Given the description of an element on the screen output the (x, y) to click on. 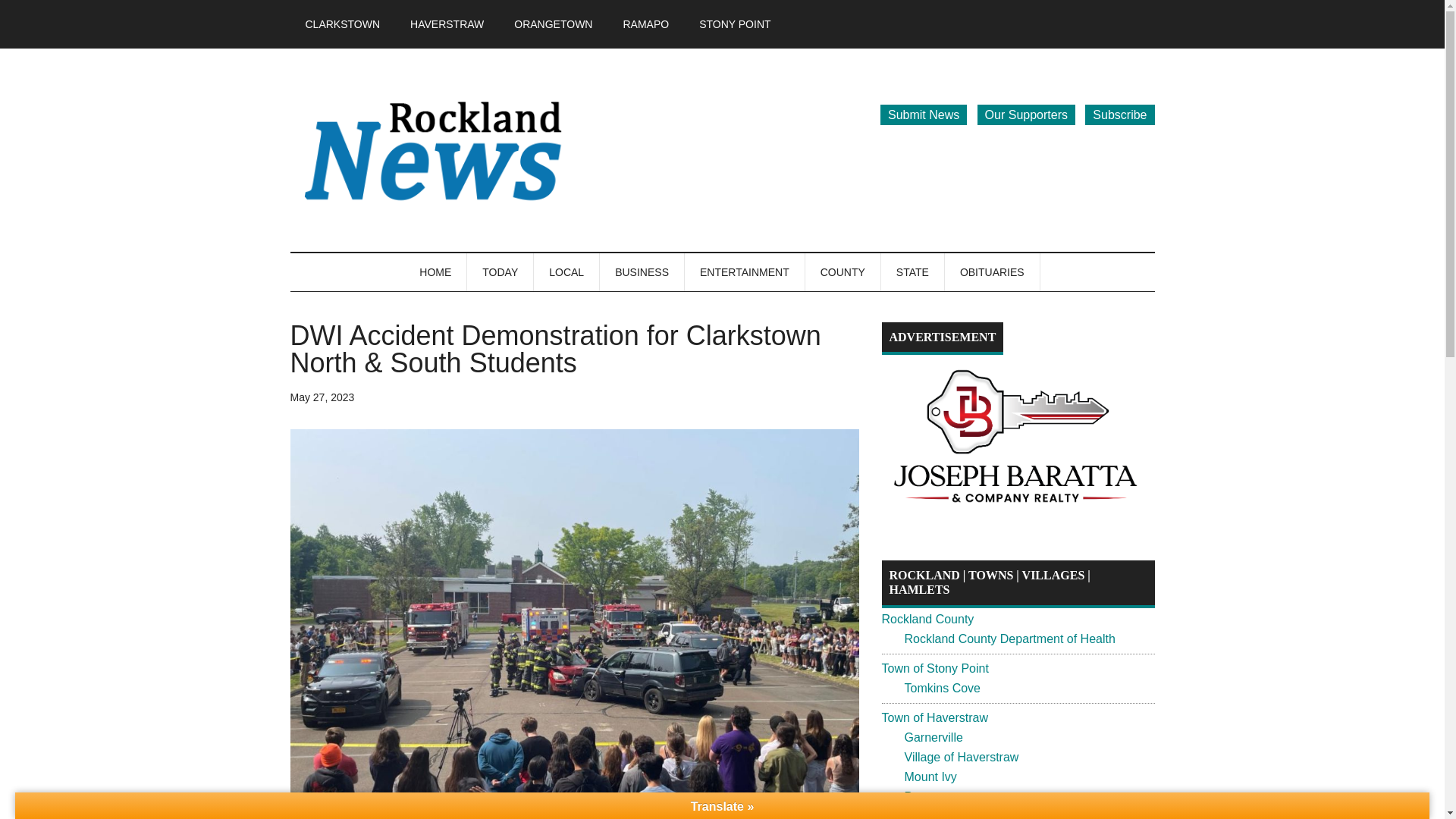
TODAY (500, 272)
Village of Haverstraw (960, 757)
HAVERSTRAW (446, 24)
ENTERTAINMENT (744, 272)
Pomona (926, 796)
STATE (912, 272)
Subscribe (1119, 114)
Submit News (923, 114)
Mount Ivy (930, 776)
Thiells (921, 814)
HOME (435, 272)
CLARKSTOWN (341, 24)
OBITUARIES (992, 272)
Our Supporters (1025, 114)
